Given the description of an element on the screen output the (x, y) to click on. 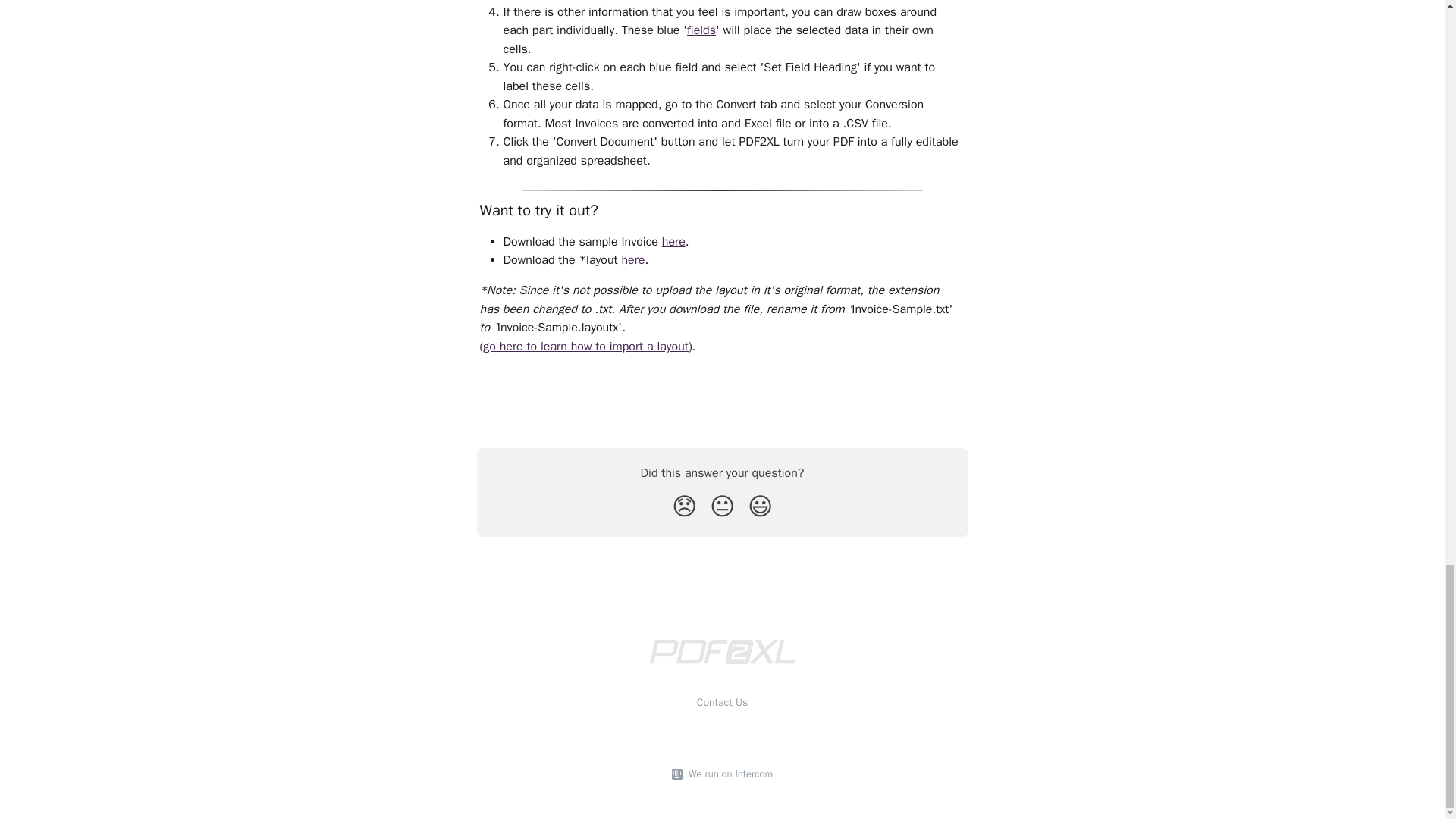
here (633, 259)
fields (701, 29)
Contact Us (722, 702)
go here to learn how to import a layout (585, 346)
here (673, 241)
We run on Intercom (727, 774)
